Given the description of an element on the screen output the (x, y) to click on. 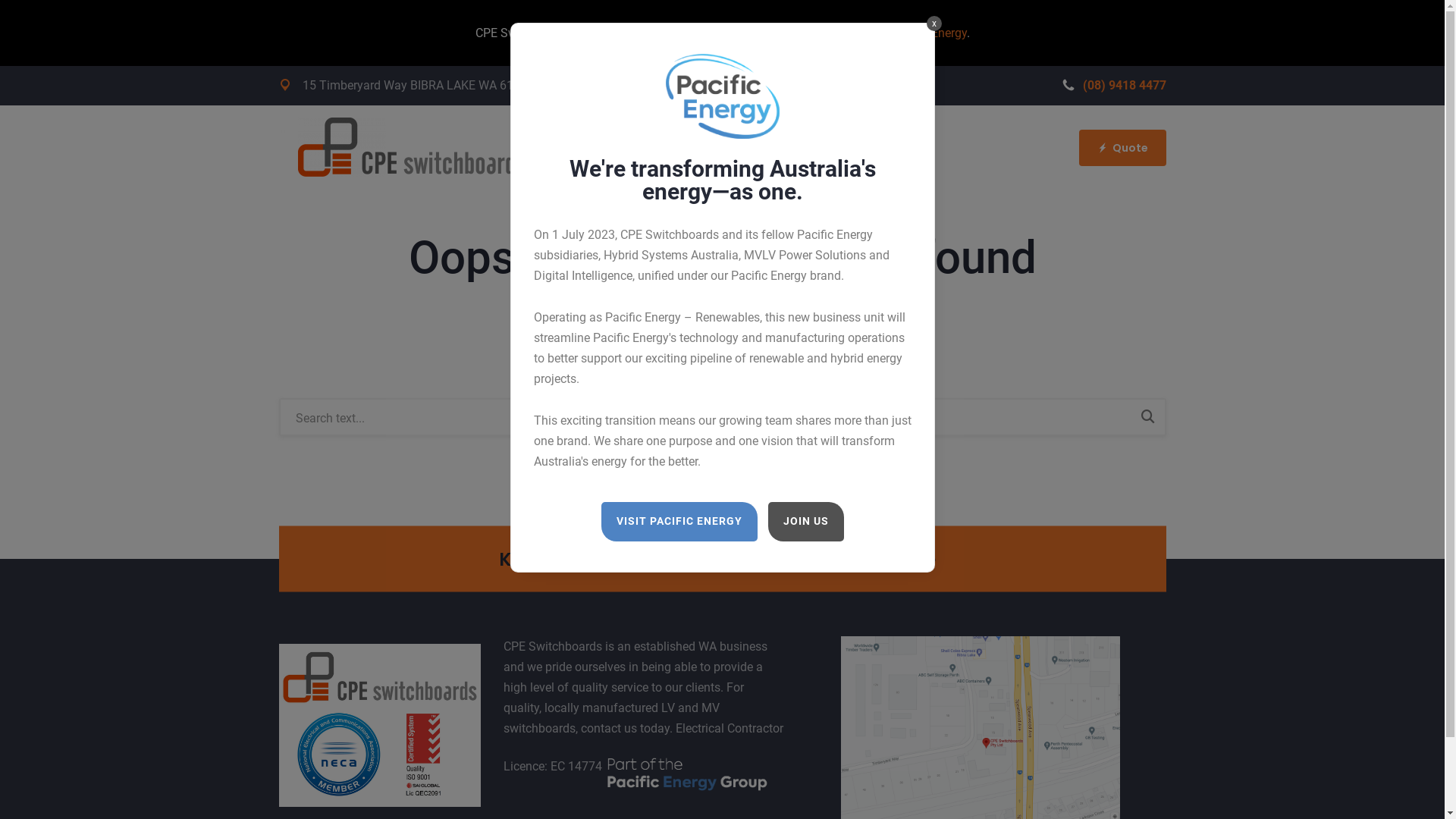
Visit Pacific Energy Element type: text (915, 32)
JOIN US Element type: text (805, 521)
Contact Element type: text (831, 150)
Home Element type: text (763, 150)
Keep up to date by following our Linkedin page Element type: text (716, 558)
Quote Element type: text (1121, 147)
VISIT PACIFIC ENERGY Element type: text (678, 521)
(08) 9418 4477 Element type: text (1113, 85)
